Given the description of an element on the screen output the (x, y) to click on. 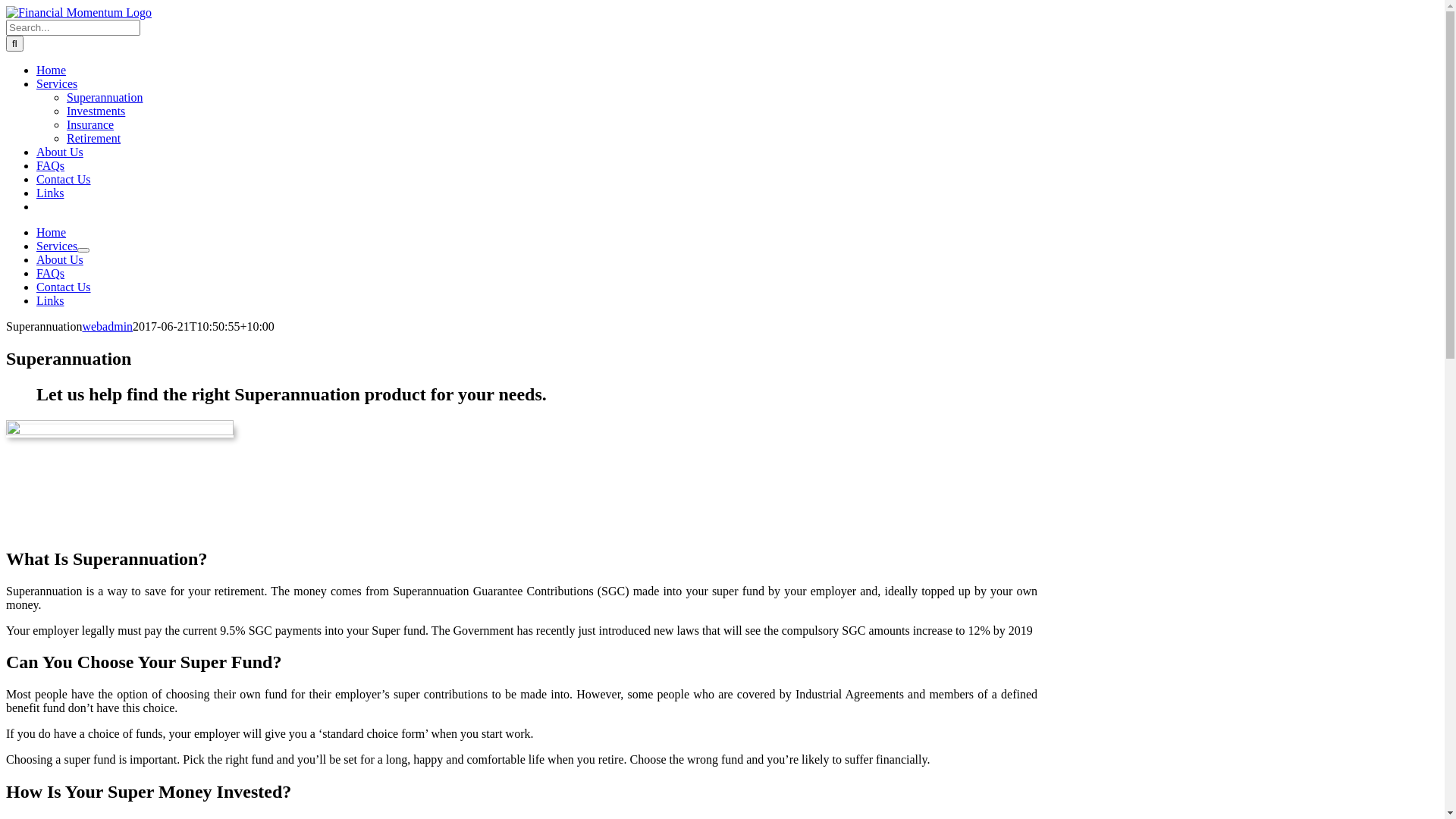
Contact Us Element type: text (63, 178)
Links Element type: text (49, 192)
Home Element type: text (50, 69)
Investments Element type: text (95, 110)
About Us Element type: text (59, 151)
Services Element type: text (56, 83)
FAQs Element type: text (50, 165)
webadmin Element type: text (106, 326)
Skip to content Element type: text (5, 5)
Insurance Element type: text (89, 124)
Services Element type: text (56, 245)
Superannuation Element type: text (104, 97)
business_slider Element type: hover (119, 476)
Links Element type: text (49, 300)
Home Element type: text (50, 231)
Contact Us Element type: text (63, 286)
FAQs Element type: text (50, 272)
About Us Element type: text (59, 259)
Retirement Element type: text (93, 137)
